Given the description of an element on the screen output the (x, y) to click on. 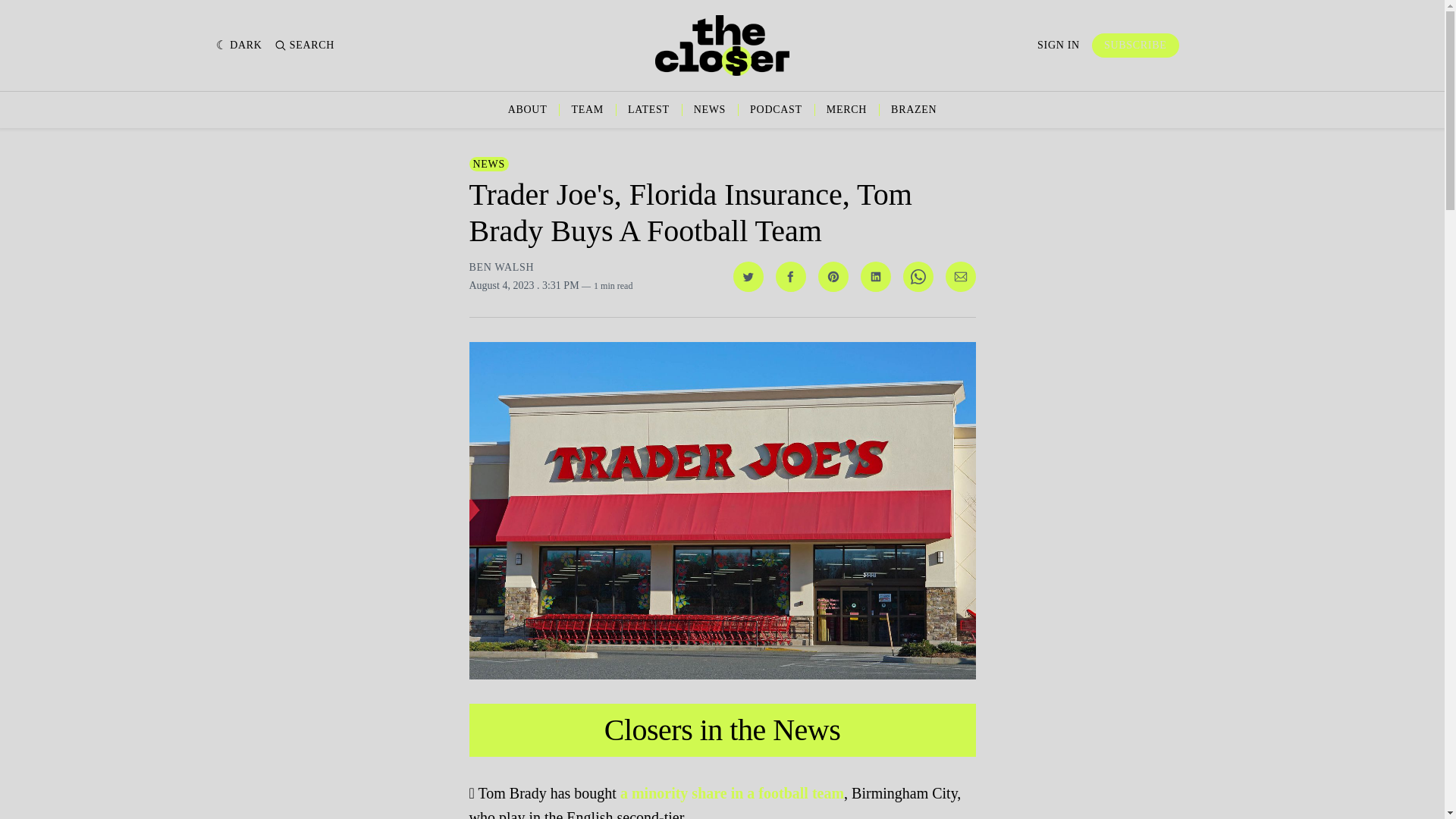
ABOUT (527, 110)
PODCAST (775, 110)
BEN WALSH (501, 267)
SIGN IN (1058, 45)
Dark (238, 45)
Share on Pinterest (831, 276)
Share on LinkedIn (874, 276)
LATEST (648, 110)
BRAZEN (913, 110)
MERCH (846, 110)
NEWS (488, 164)
DARK (238, 45)
SEARCH (304, 45)
Share on Twitter (747, 276)
Toggle menu (1209, 45)
